Given the description of an element on the screen output the (x, y) to click on. 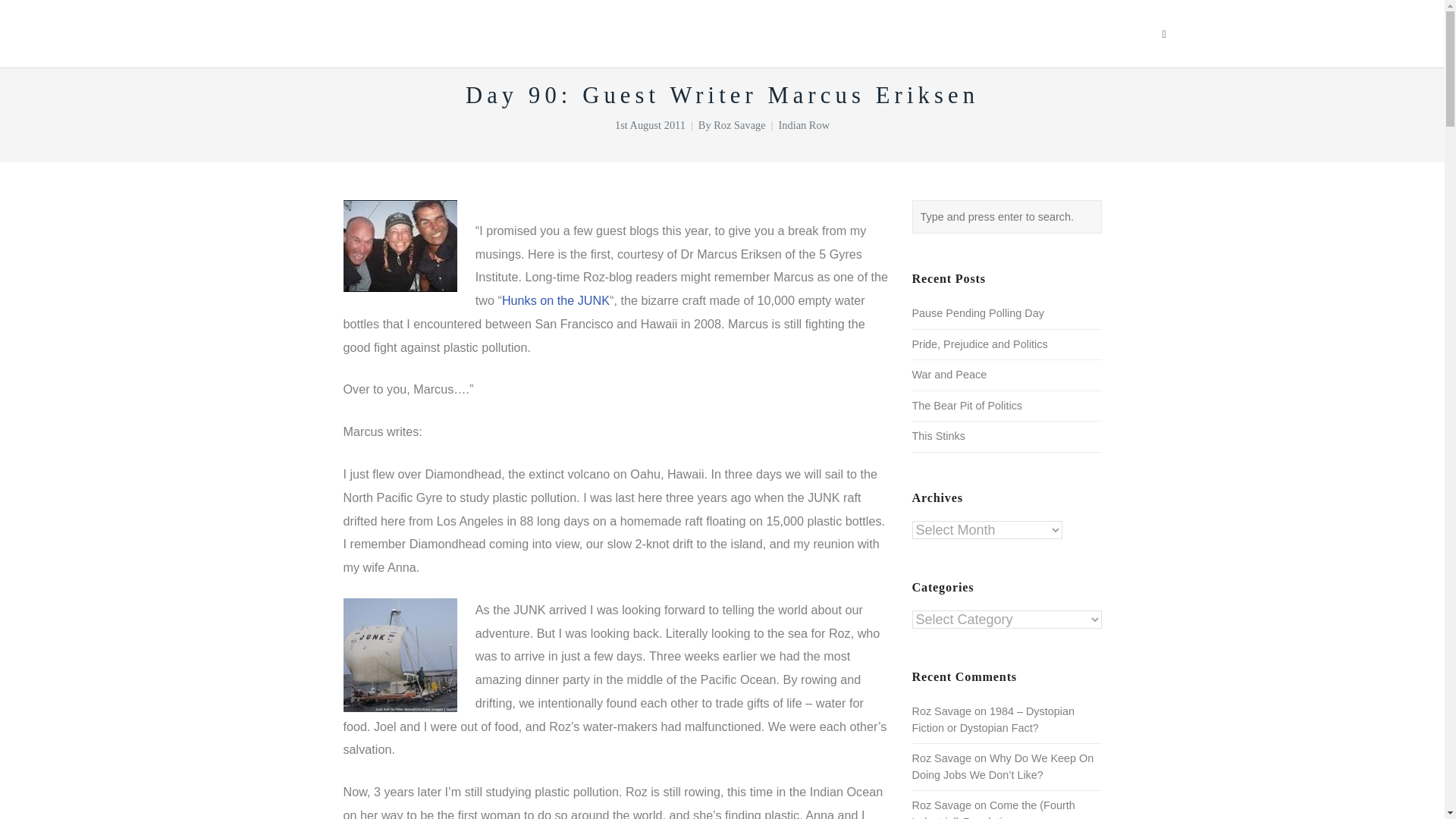
Roz Savage (739, 124)
Podcast (966, 33)
Hunks on the JUNK (556, 300)
Junk (399, 654)
View all posts in Indian Row (803, 124)
Indian Row (803, 124)
Speaker (790, 33)
